Given the description of an element on the screen output the (x, y) to click on. 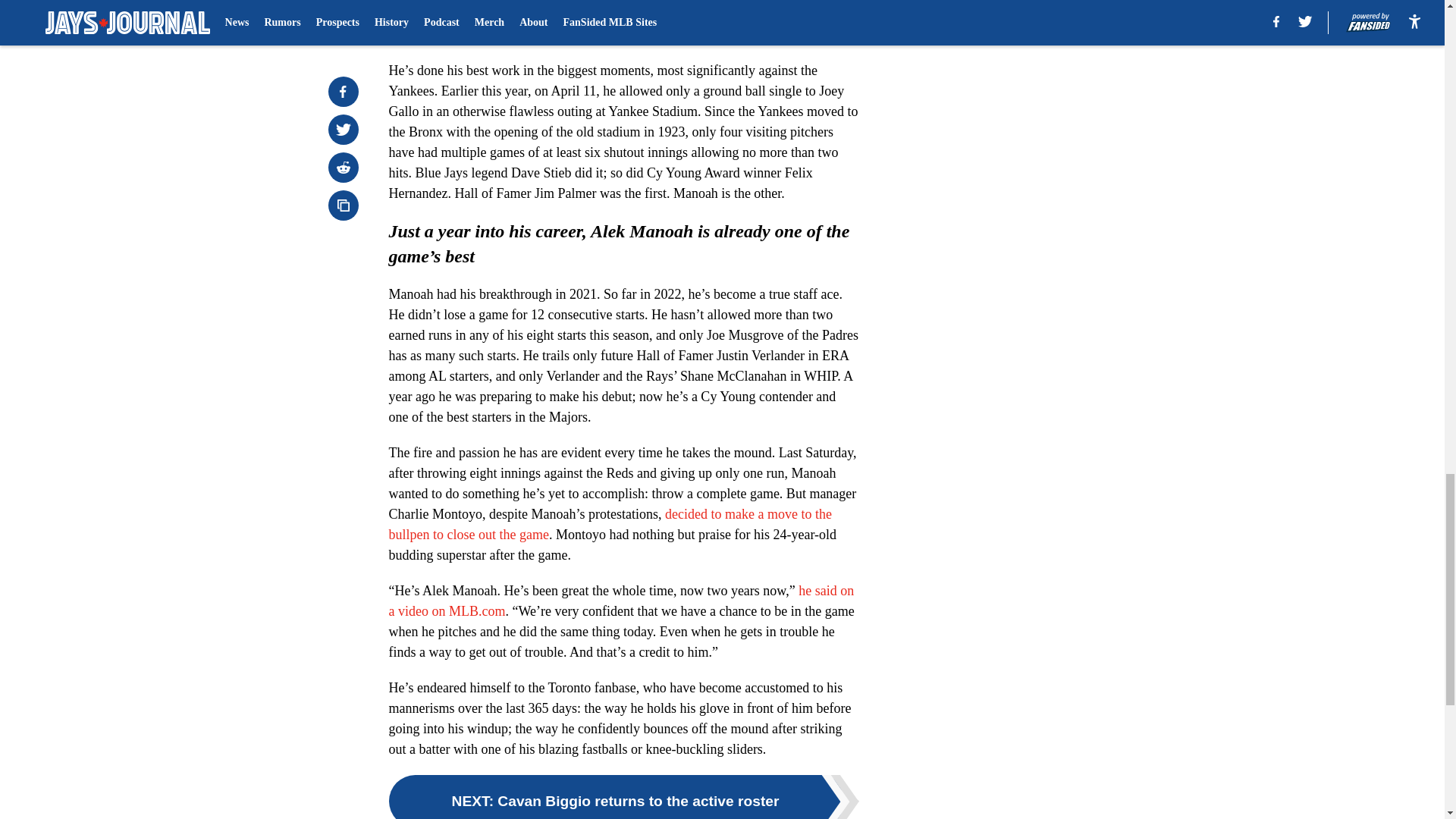
decided to make a move to the bullpen to close out the game (609, 524)
NEXT: Cavan Biggio returns to the active roster (623, 796)
he said on a video on MLB.com (620, 601)
